Given the description of an element on the screen output the (x, y) to click on. 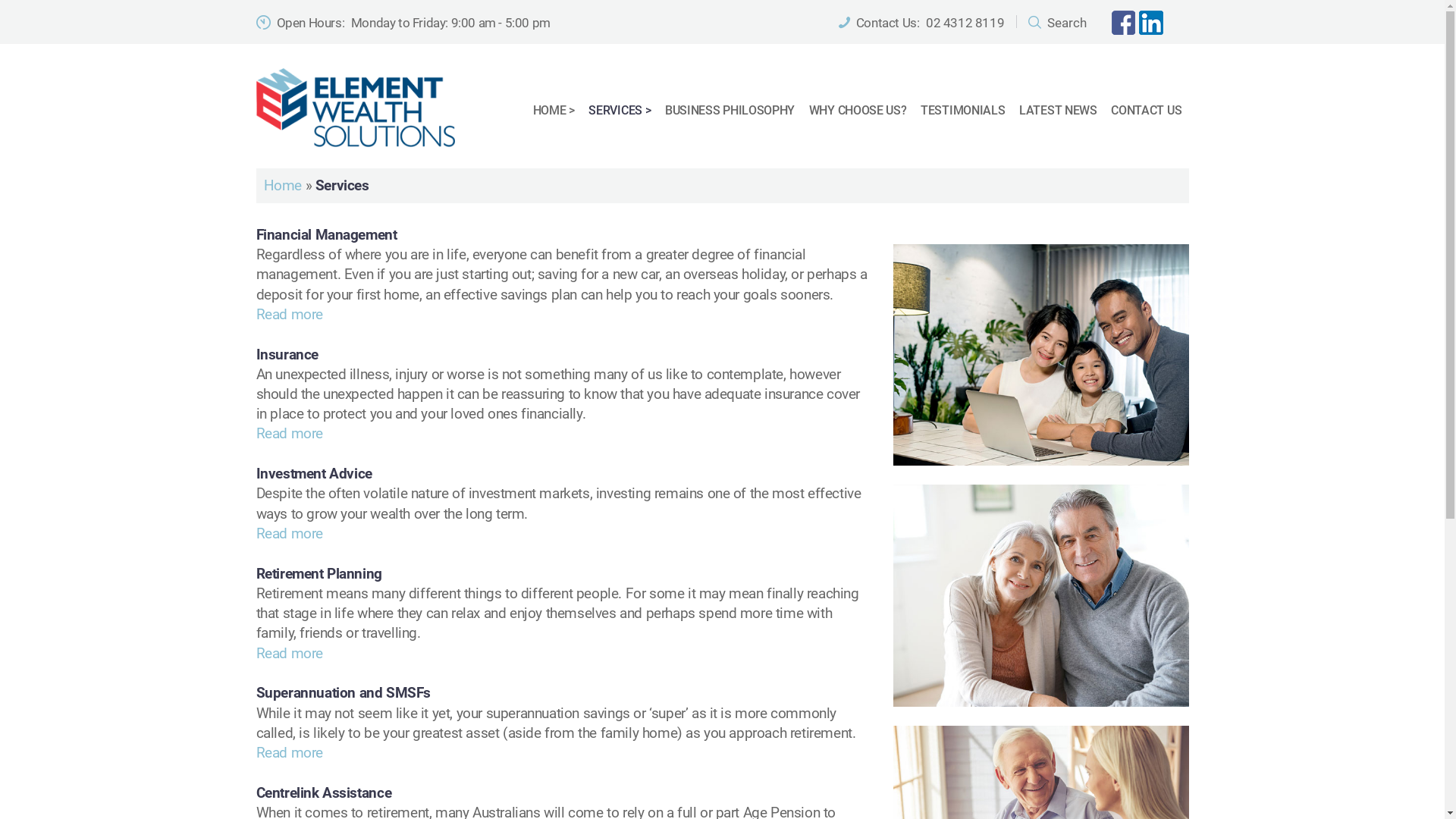
HOME > Element type: text (553, 110)
Read more Element type: text (289, 314)
TESTIMONIALS Element type: text (962, 110)
SERVICES > Element type: text (619, 110)
WHY CHOOSE US? Element type: text (857, 110)
BUSINESS PHILOSOPHY Element type: text (730, 110)
Home Element type: text (282, 185)
LATEST NEWS Element type: text (1058, 110)
CONTACT US Element type: text (1146, 110)
Read more Element type: text (289, 433)
Read more Element type: text (289, 533)
Read more Element type: text (289, 752)
Read more Element type: text (289, 653)
